Given the description of an element on the screen output the (x, y) to click on. 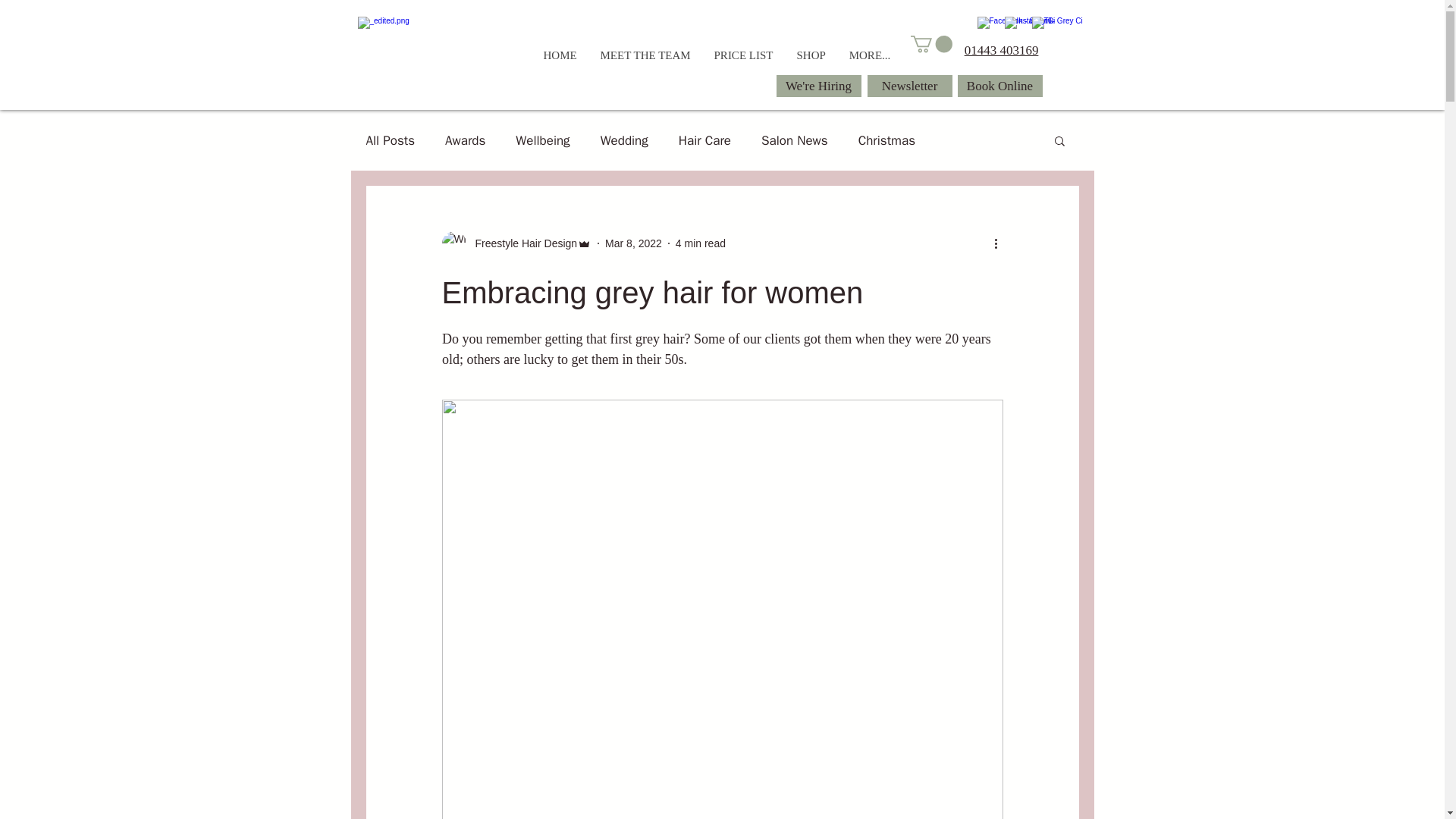
Salon News (794, 140)
MEET THE TEAM (644, 55)
Freestyle Hair Design (520, 242)
Hair Care (704, 140)
Christmas (887, 140)
PRICE LIST (742, 55)
All Posts (389, 140)
We're Hiring (818, 86)
4 min read (700, 242)
Wellbeing (542, 140)
